Given the description of an element on the screen output the (x, y) to click on. 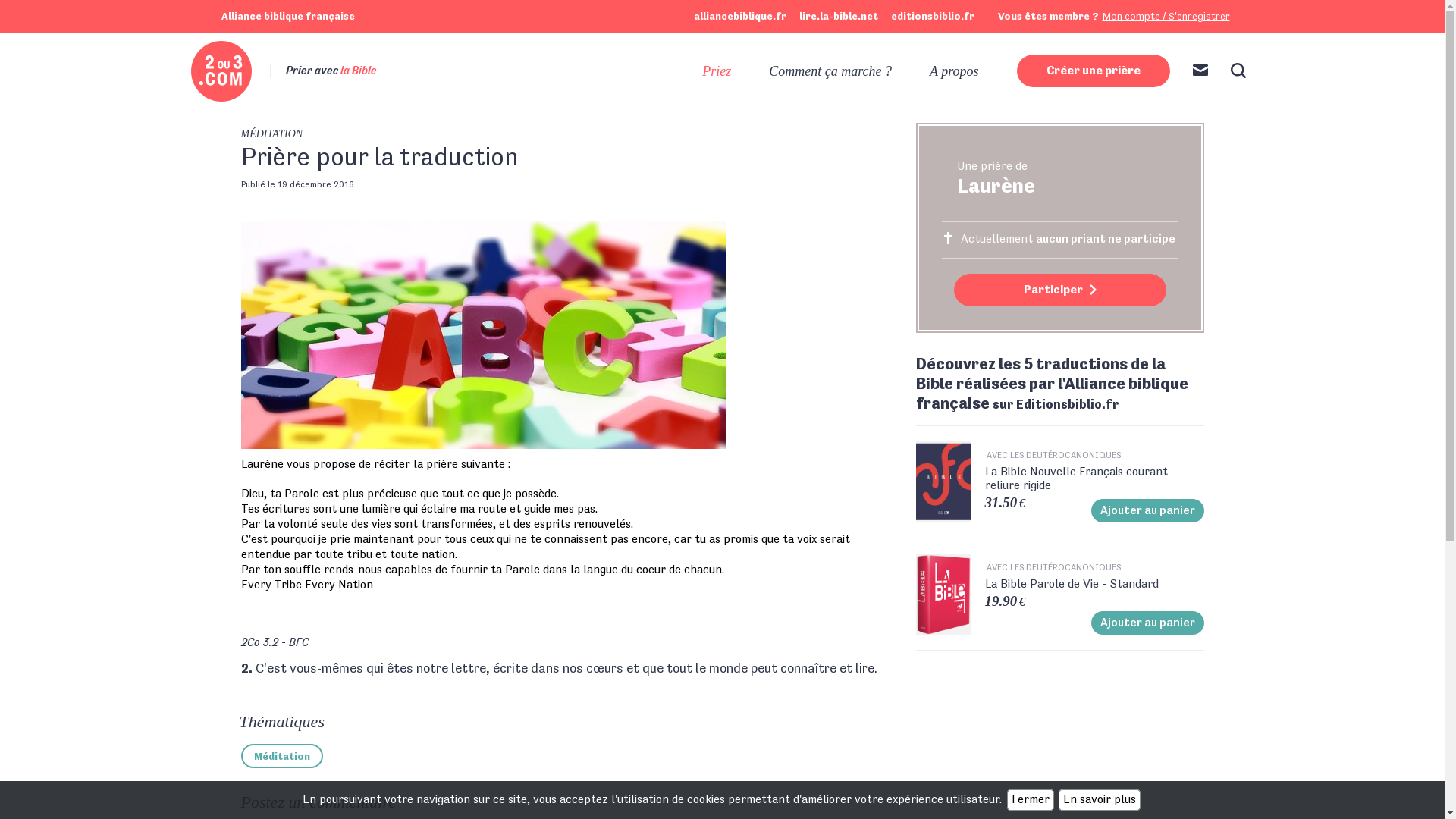
Mon compte / S'enregistrer Element type: text (1166, 16)
editionsbiblio.fr Element type: text (931, 16)
La Bible Parole de Vie - Standard Element type: text (1093, 584)
lire.la-bible.net Element type: text (838, 16)
Prier avec la Bible Element type: text (275, 71)
Ajouter au panier Element type: text (1146, 510)
Fermer Element type: text (1030, 799)
En savoir plus Element type: text (1099, 799)
A propos Element type: text (954, 70)
Ajouter au panier Element type: text (1146, 622)
Priez Element type: text (716, 70)
Participer Element type: text (1059, 289)
alliancebiblique.fr Element type: text (739, 16)
2Co 3.2 - BFC Element type: text (274, 643)
